Given the description of an element on the screen output the (x, y) to click on. 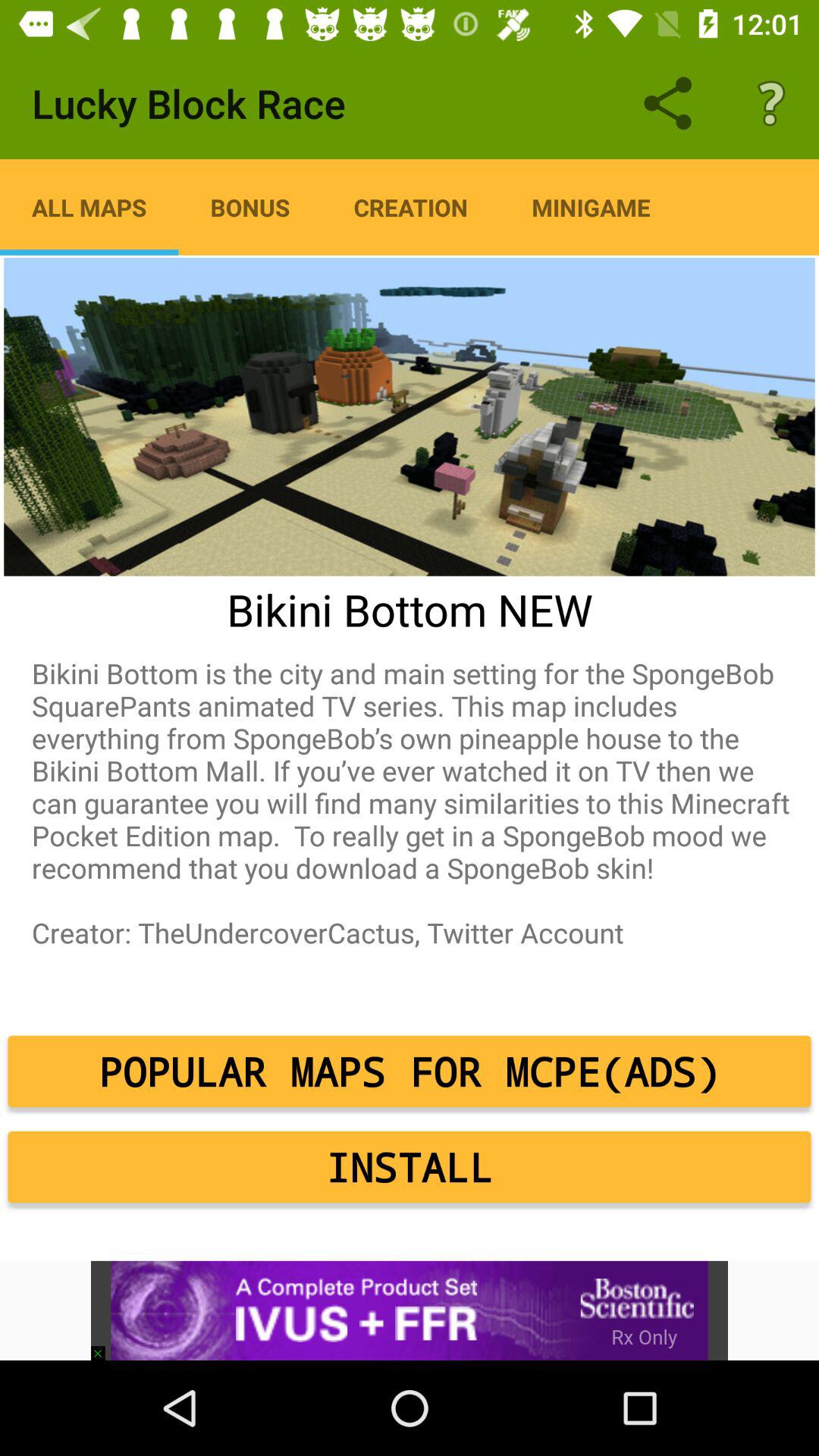
tap the app to the left of minigame app (410, 207)
